Given the description of an element on the screen output the (x, y) to click on. 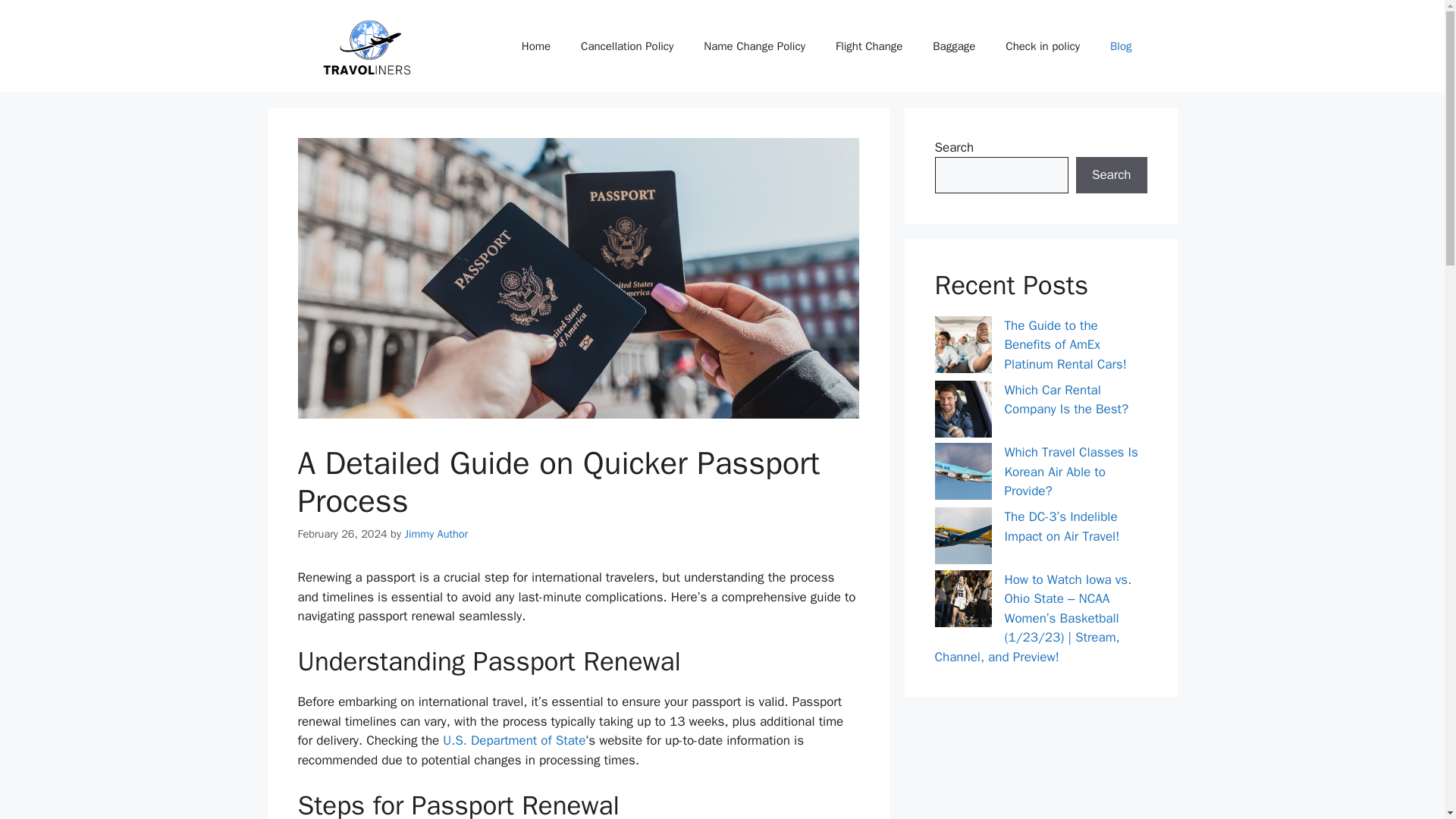
Jimmy Author (435, 533)
U.S. Department of State (512, 740)
Which Travel Classes Is Korean Air Able to Provide? (1070, 471)
The Guide to the Benefits of AmEx Platinum Rental Cars! (1064, 344)
Search (1111, 175)
Baggage (953, 45)
Flight Change (869, 45)
View all posts by Jimmy Author (435, 533)
Check in policy (1042, 45)
Blog (1120, 45)
Which Car Rental Company Is the Best? (1066, 399)
Cancellation Policy (627, 45)
Home (536, 45)
Name Change Policy (754, 45)
